Given the description of an element on the screen output the (x, y) to click on. 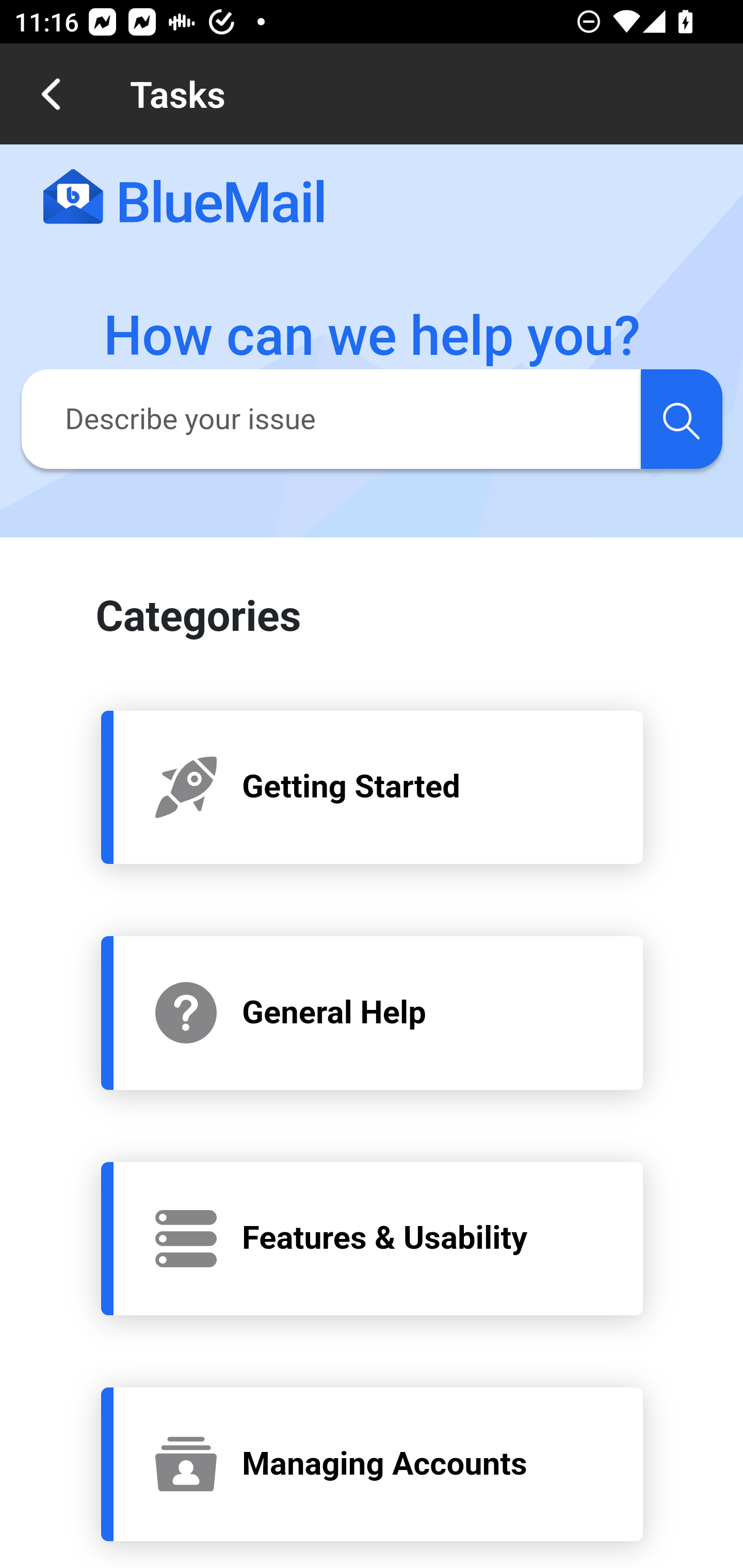
Navigate up (50, 93)
BlueMail Logo (184, 197)
How can we help you? (372, 336)
search (680, 418)
icon Getting Started icon Getting Started (372, 785)
icon General Help icon General Help (372, 1011)
icon Managing Accounts icon Managing Accounts (372, 1463)
